Given the description of an element on the screen output the (x, y) to click on. 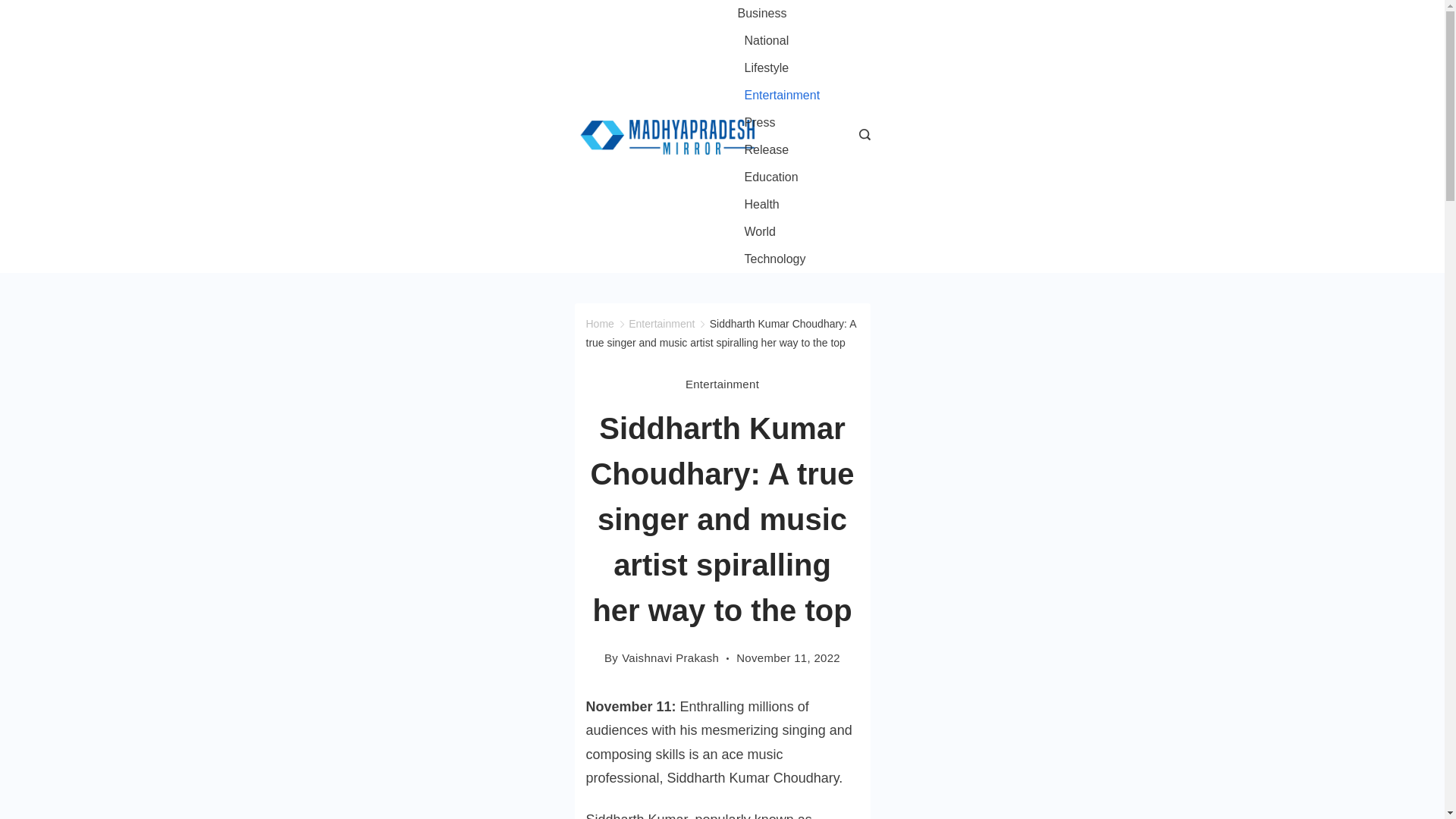
Home (598, 323)
World (759, 231)
Business (764, 13)
Press Release (782, 135)
Entertainment (661, 323)
Education (770, 176)
Technology (770, 258)
Lifestyle (765, 67)
Health (761, 204)
